Given the description of an element on the screen output the (x, y) to click on. 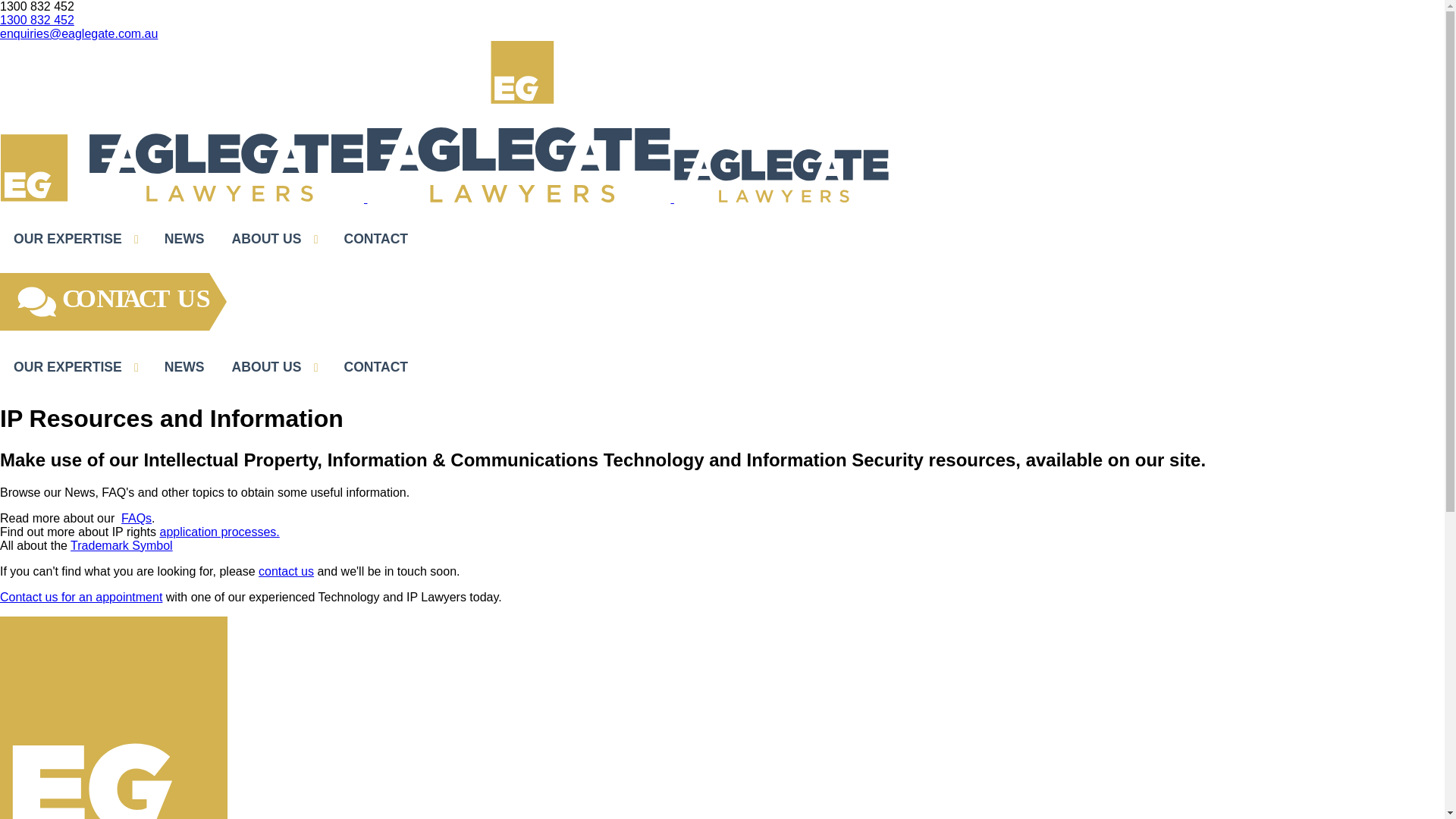
NEWS Element type: text (184, 238)
CONTACT Element type: text (375, 367)
ABOUT US Element type: text (274, 238)
NEWS Element type: text (184, 367)
application processes. Element type: text (219, 531)
enquiries@eaglegate.com.au Element type: text (78, 33)
contact us Element type: text (285, 570)
Trademark Symbol Element type: text (121, 545)
1300 832 452 Element type: text (37, 19)
OUR EXPERTISE Element type: text (75, 367)
FAQs Element type: text (136, 517)
Contact us for an appointment Element type: text (81, 596)
CONTACT Element type: text (375, 238)
OUR EXPERTISE Element type: text (75, 238)
ABOUT US Element type: text (274, 367)
